Given the description of an element on the screen output the (x, y) to click on. 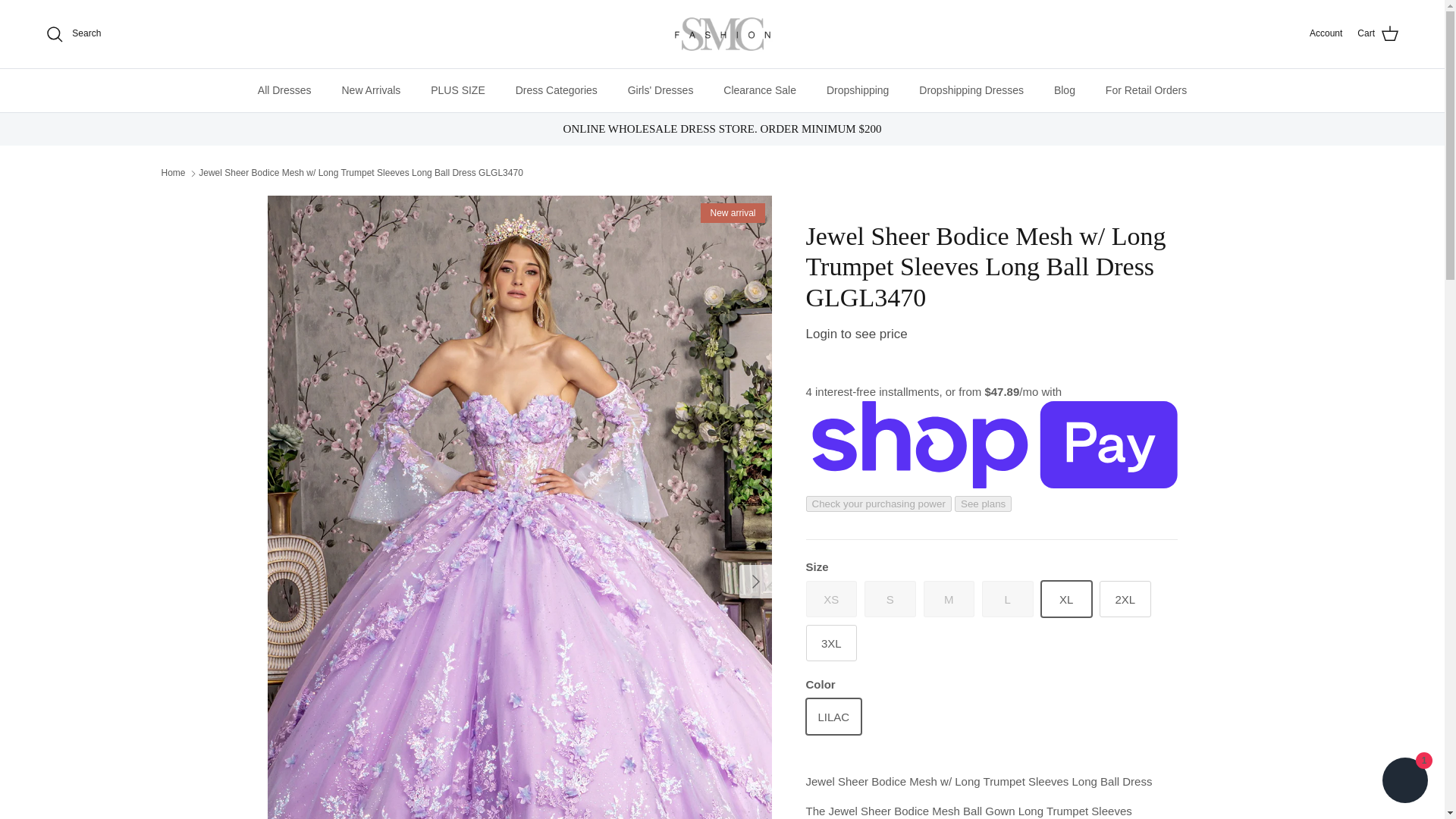
Account (1325, 33)
New Arrivals (370, 89)
Cart (1377, 34)
Girls' Dresses (660, 89)
All Dresses (284, 89)
Shopify online store chat (1404, 781)
Dropshipping (857, 89)
Sold out (889, 598)
Dropshipping Dresses (970, 89)
Sold out (831, 598)
Sold out (949, 598)
smcfashion.com (721, 34)
PLUS SIZE (457, 89)
Sold out (1007, 598)
Search (72, 34)
